Given the description of an element on the screen output the (x, y) to click on. 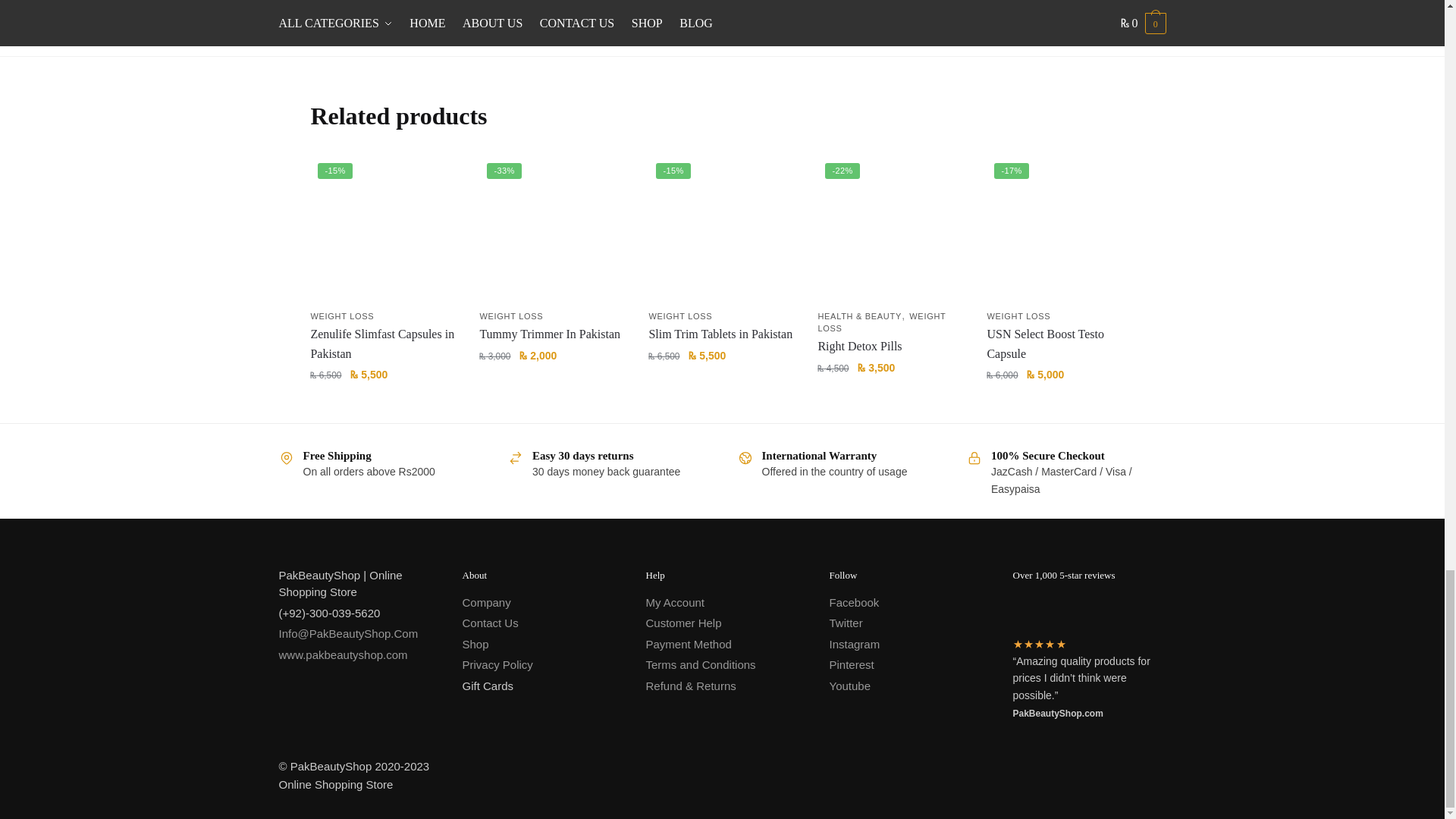
Email (349, 633)
www.pakbeautyshop.com (343, 654)
